Given the description of an element on the screen output the (x, y) to click on. 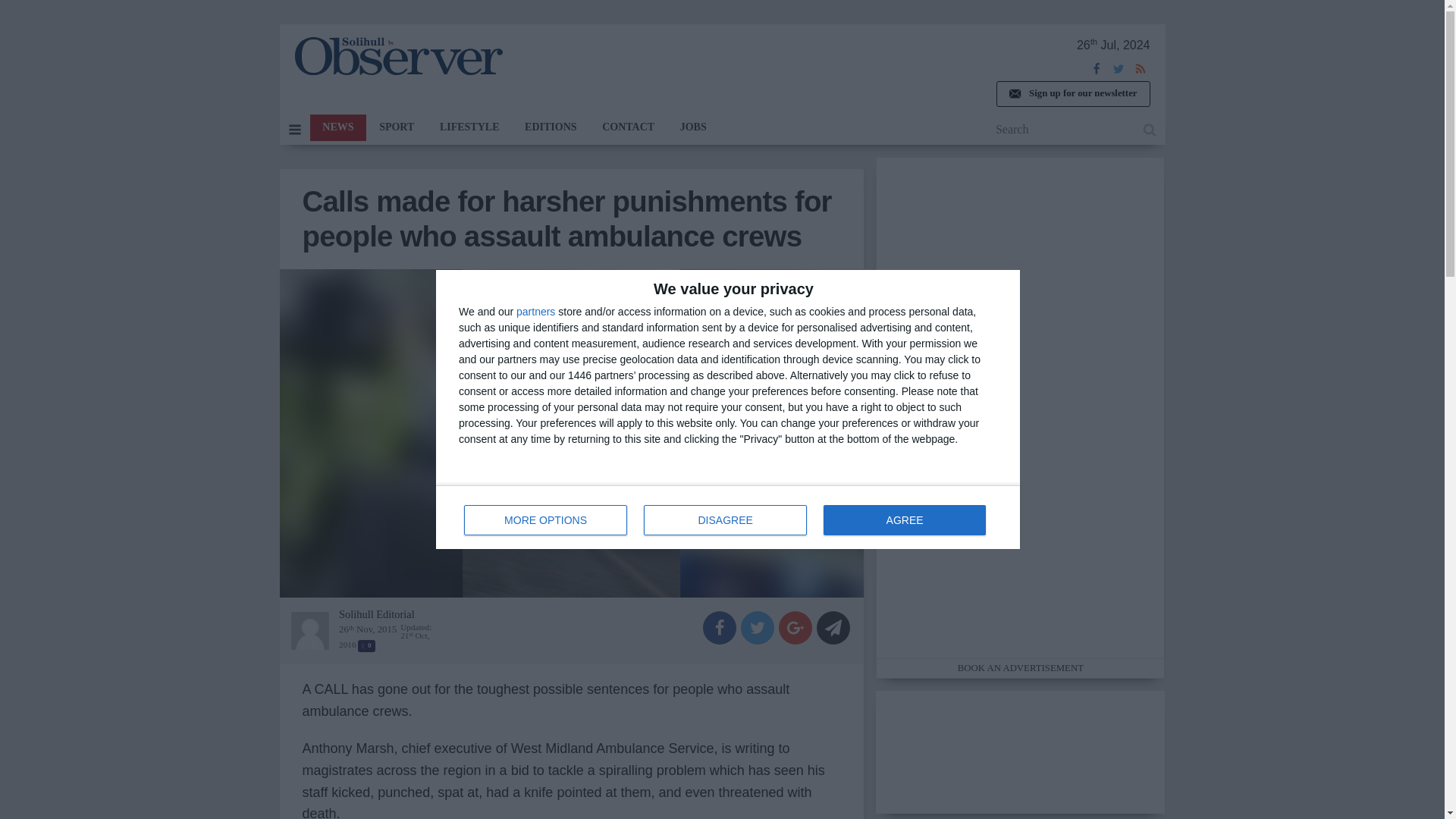
EDITIONS (550, 127)
CONTACT (627, 127)
  Sign up for our newsletter (1072, 94)
MORE OPTIONS (545, 520)
LIFESTYLE (469, 127)
AGREE (904, 520)
SPORT (396, 127)
DISAGREE (724, 520)
The Solihull Observer (398, 55)
NEWS (337, 127)
partners (727, 516)
